Given the description of an element on the screen output the (x, y) to click on. 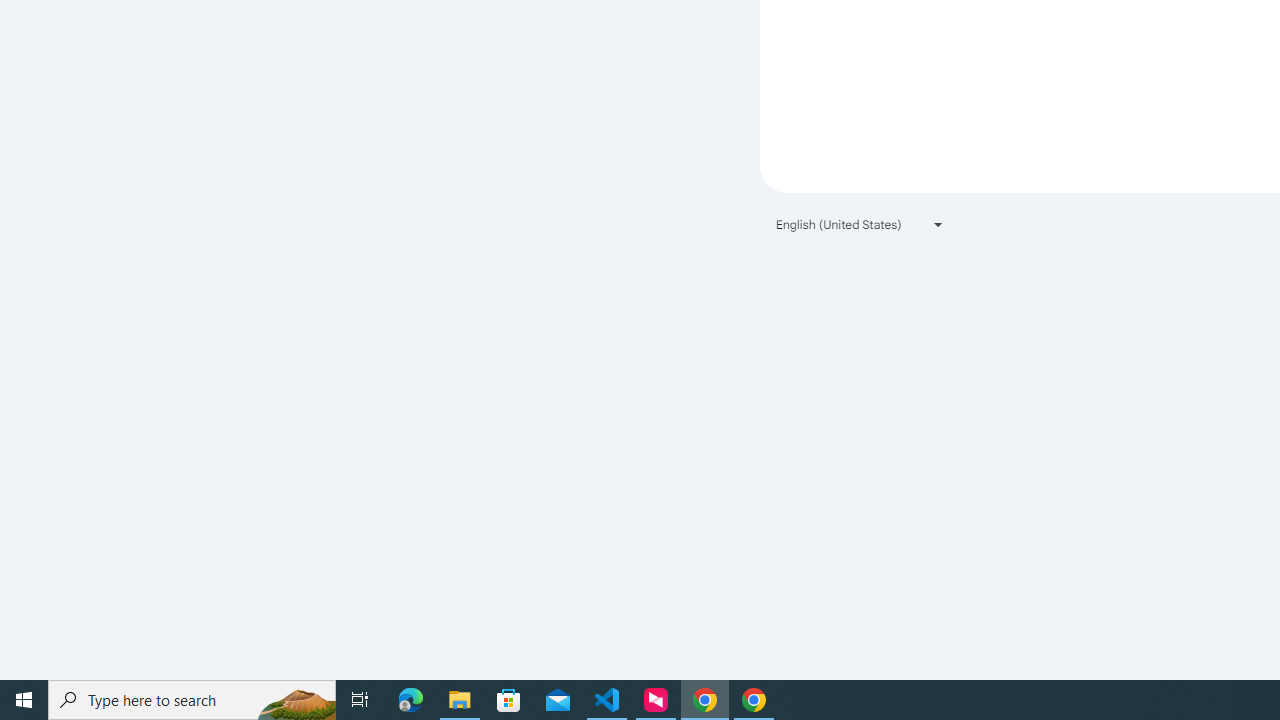
English (United States) (860, 224)
